Given the description of an element on the screen output the (x, y) to click on. 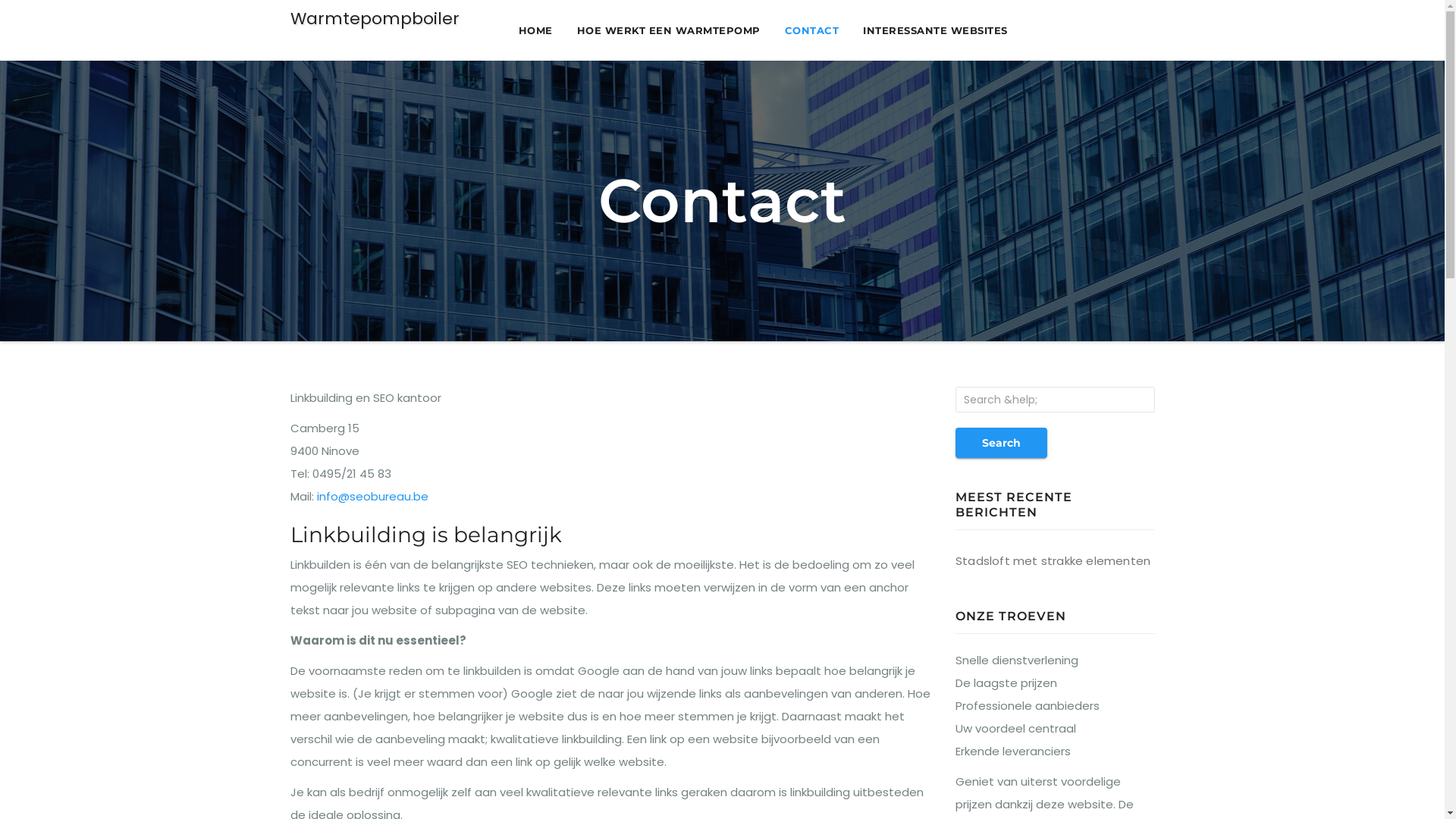
INTERESSANTE WEBSITES Element type: text (934, 30)
CONTACT Element type: text (810, 30)
Stadsloft met strakke elementen Element type: text (1052, 560)
Search Element type: text (1001, 442)
HOME Element type: text (535, 30)
info@seobureau.be Element type: text (372, 496)
Warmtepompboiler Element type: text (373, 18)
HOE WERKT EEN WARMTEPOMP Element type: text (667, 30)
